Given the description of an element on the screen output the (x, y) to click on. 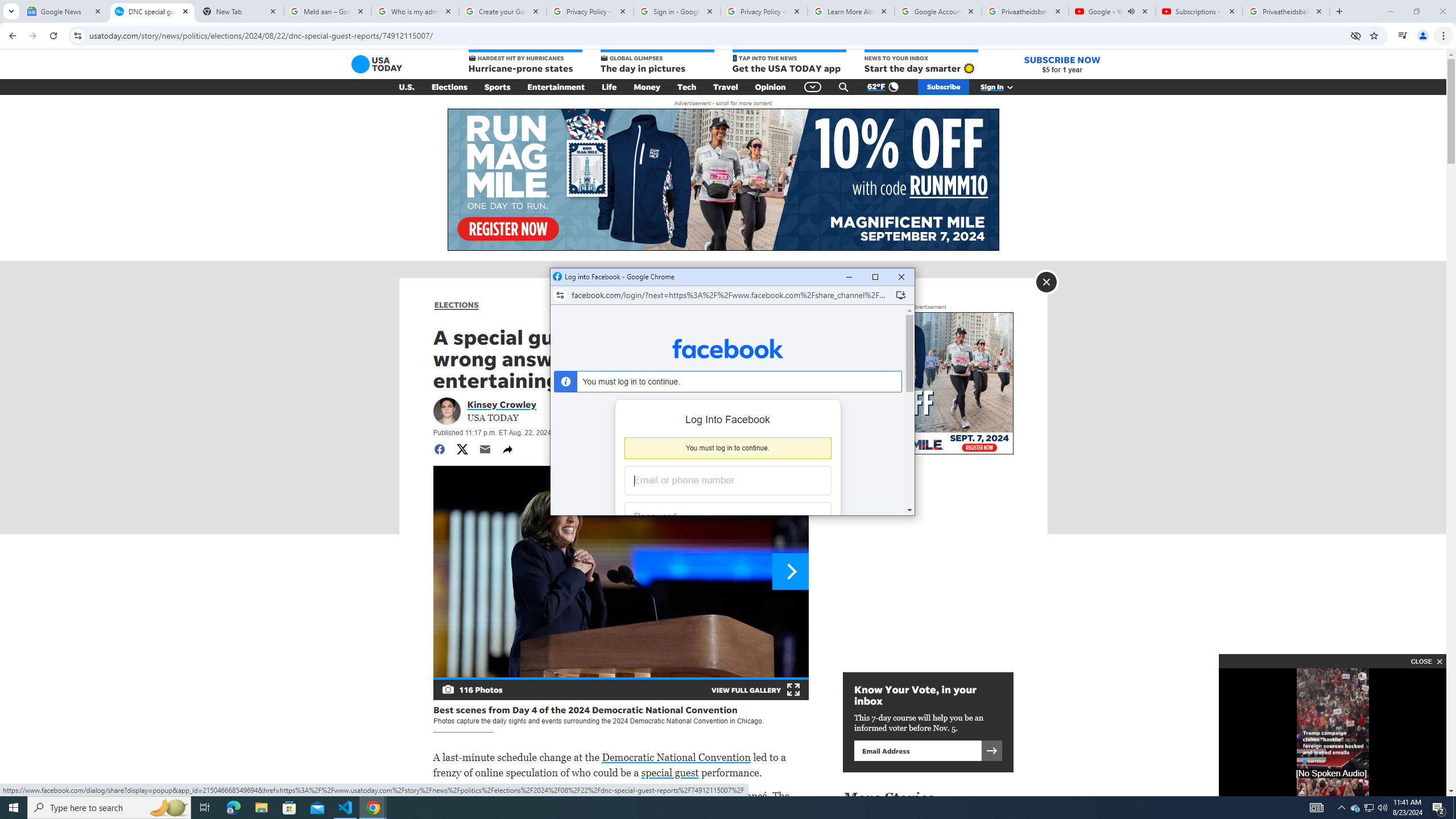
Google Chrome - 2 running windows (373, 807)
File Explorer (261, 807)
Start (13, 807)
Visual Studio Code - 1 running window (1368, 807)
Google News (345, 807)
Submit to sign up for newsletter (64, 11)
Facebook (991, 750)
Who is my administrator? - Google Account Help (727, 348)
